Given the description of an element on the screen output the (x, y) to click on. 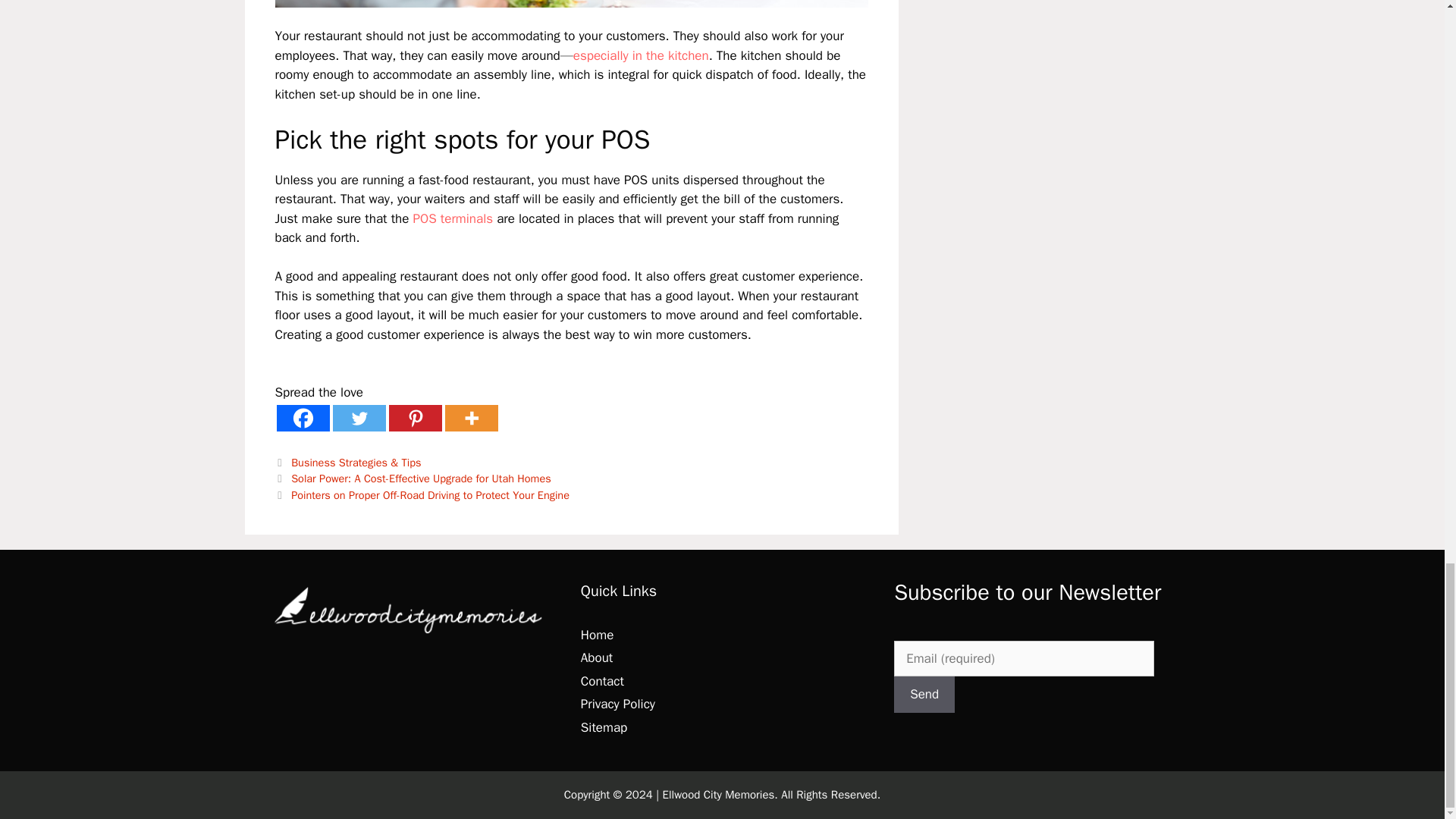
Solar Power: A Cost-Effective Upgrade for Utah Homes (421, 478)
Home (596, 634)
Thrillist (641, 55)
Pointers on Proper Off-Road Driving to Protect Your Engine (430, 495)
The Balance Small Business (452, 218)
Facebook (302, 417)
especially in the kitchen (641, 55)
Send (924, 694)
About (596, 657)
POS terminals (452, 218)
